Given the description of an element on the screen output the (x, y) to click on. 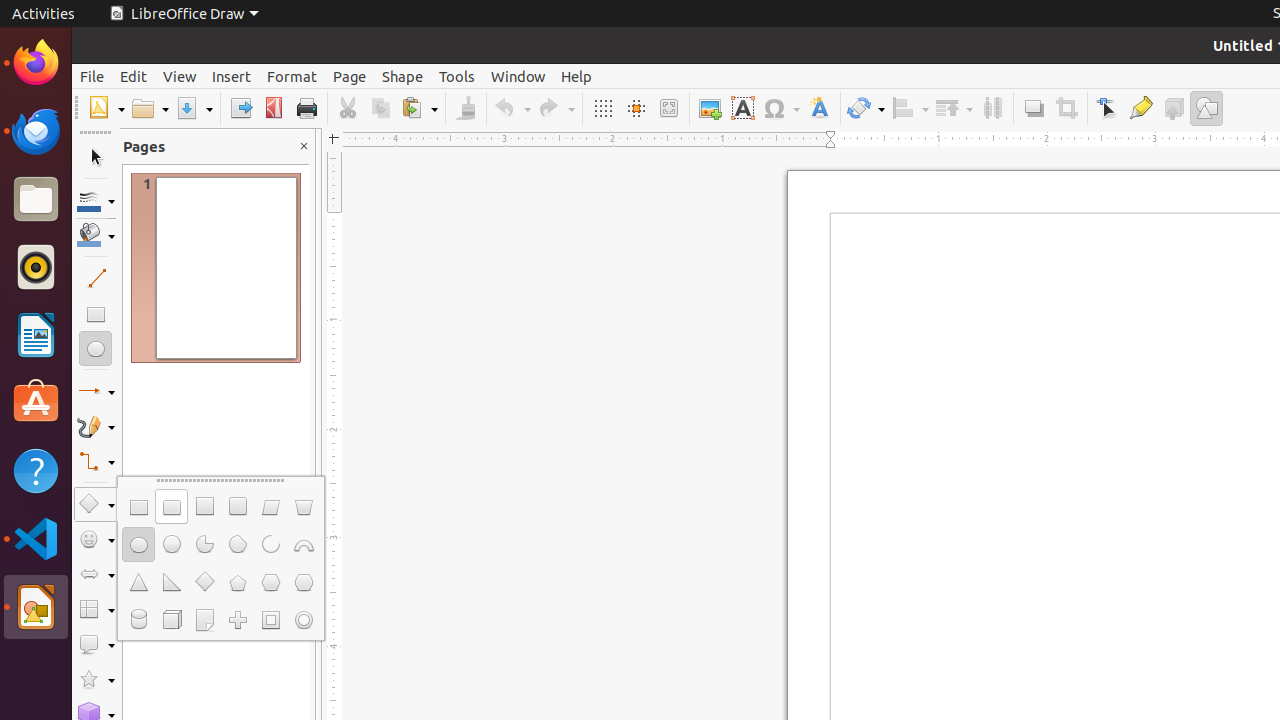
Ubuntu Software Element type: push-button (36, 402)
Print Element type: push-button (306, 108)
